Given the description of an element on the screen output the (x, y) to click on. 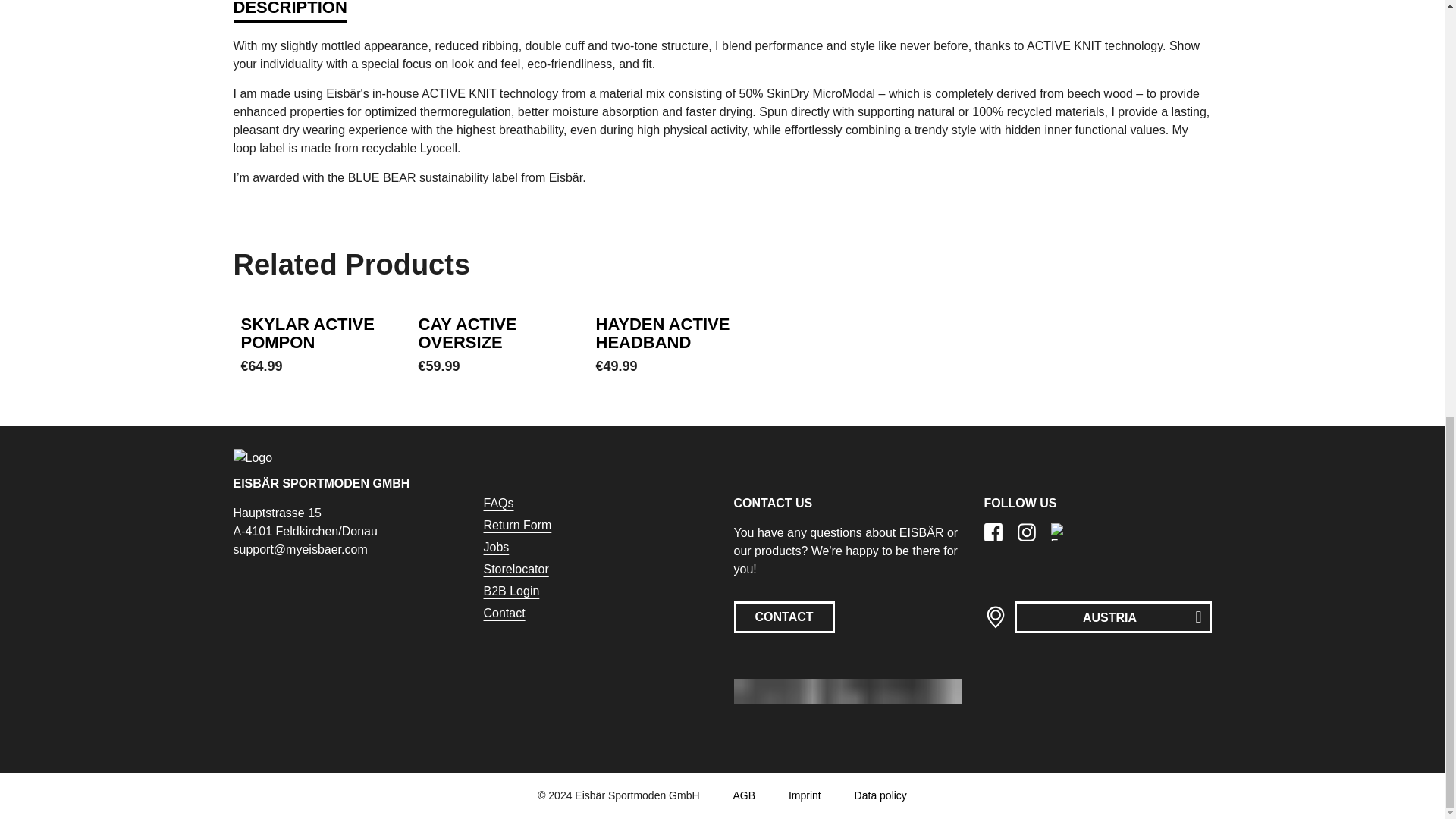
Skylar Active Pompon (307, 333)
Cay Active Oversize (467, 333)
Hayden Active Headband (662, 333)
Bezahlen mit Paypal, Klarna, Kreditkarte, Giropay und EPS (846, 691)
